Given the description of an element on the screen output the (x, y) to click on. 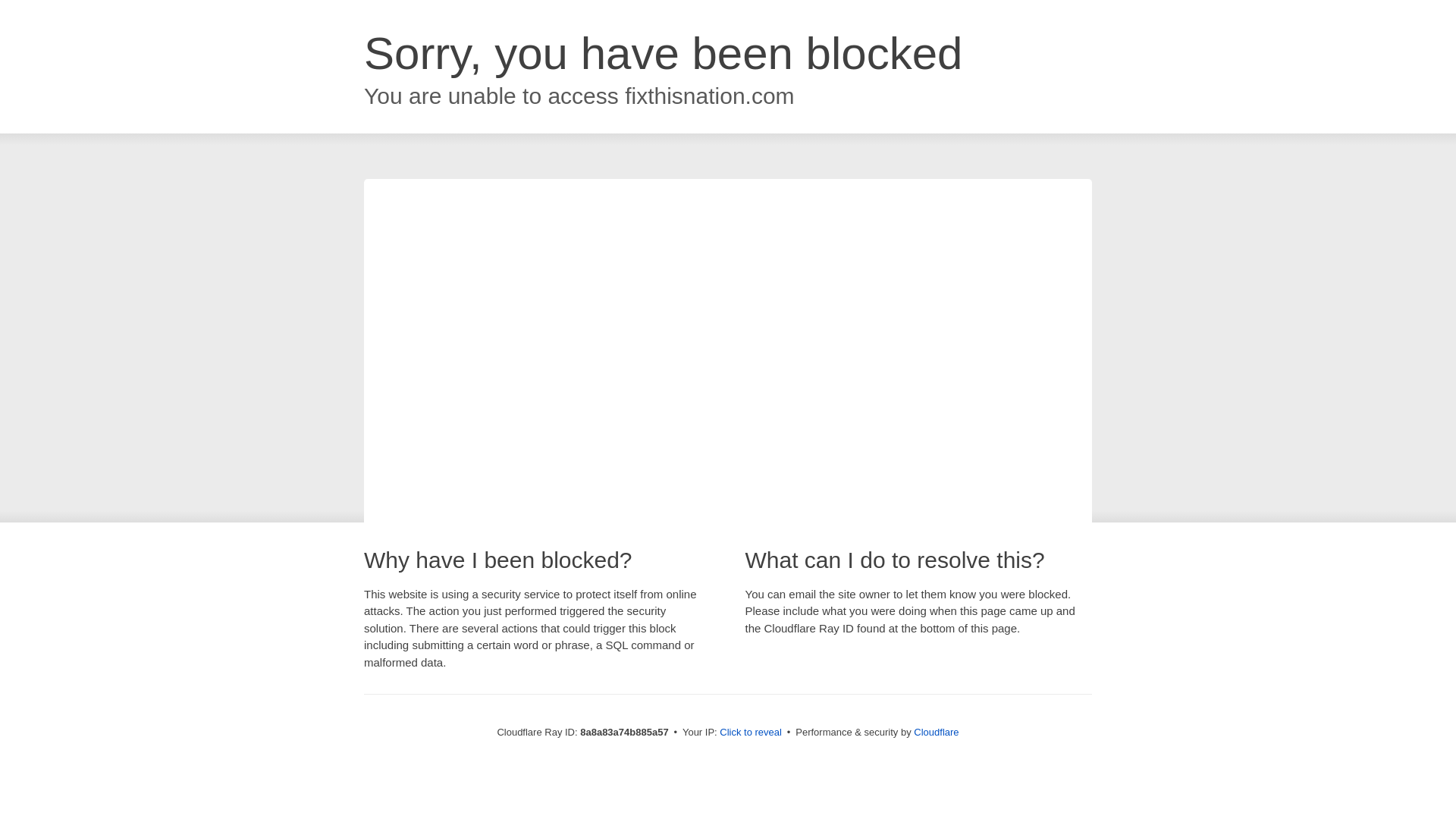
Click to reveal (750, 732)
Cloudflare (936, 731)
